Given the description of an element on the screen output the (x, y) to click on. 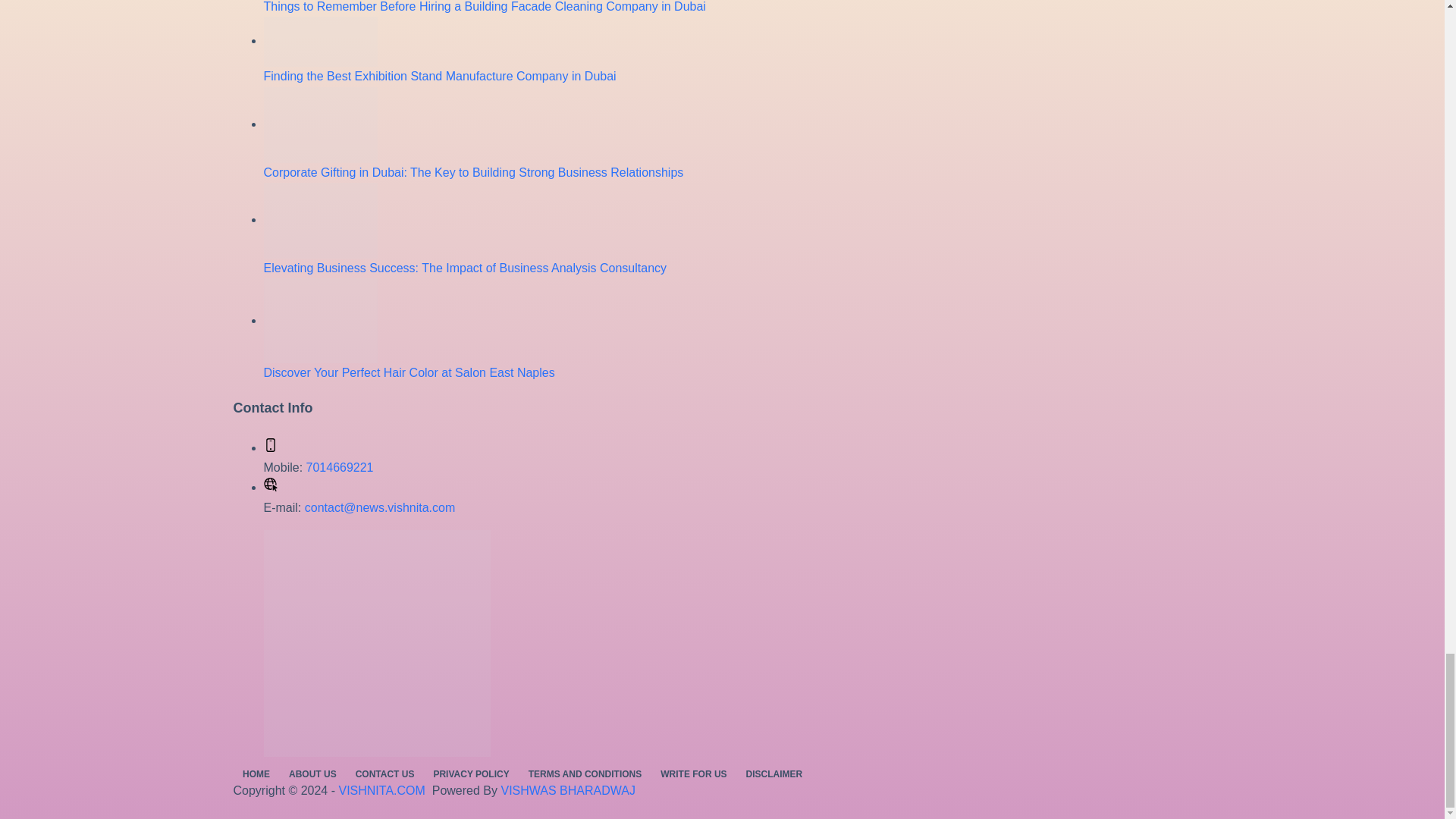
Discover Your Perfect Hair Color at Salon East Naples 15 (320, 320)
